Given the description of an element on the screen output the (x, y) to click on. 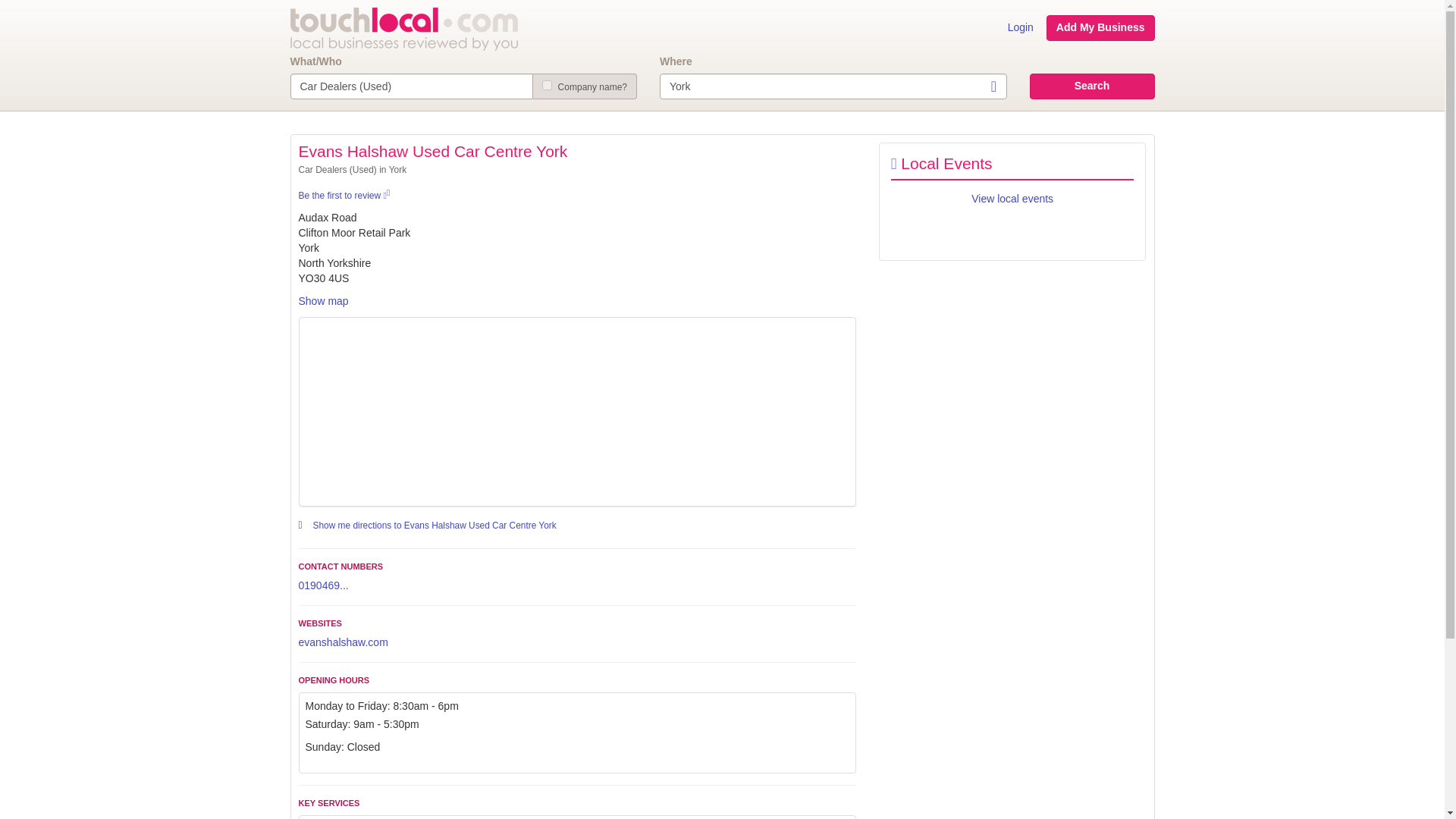
Add My Business (1100, 27)
Reveal phone number (323, 585)
Show me directions to Evans Halshaw Used Car Centre York (434, 524)
0190469... (323, 585)
Review Evans Halshaw Used Car Centre York (344, 195)
View local events (1011, 198)
Show map (323, 300)
on (546, 85)
Search (1091, 86)
Login (1020, 27)
